Given the description of an element on the screen output the (x, y) to click on. 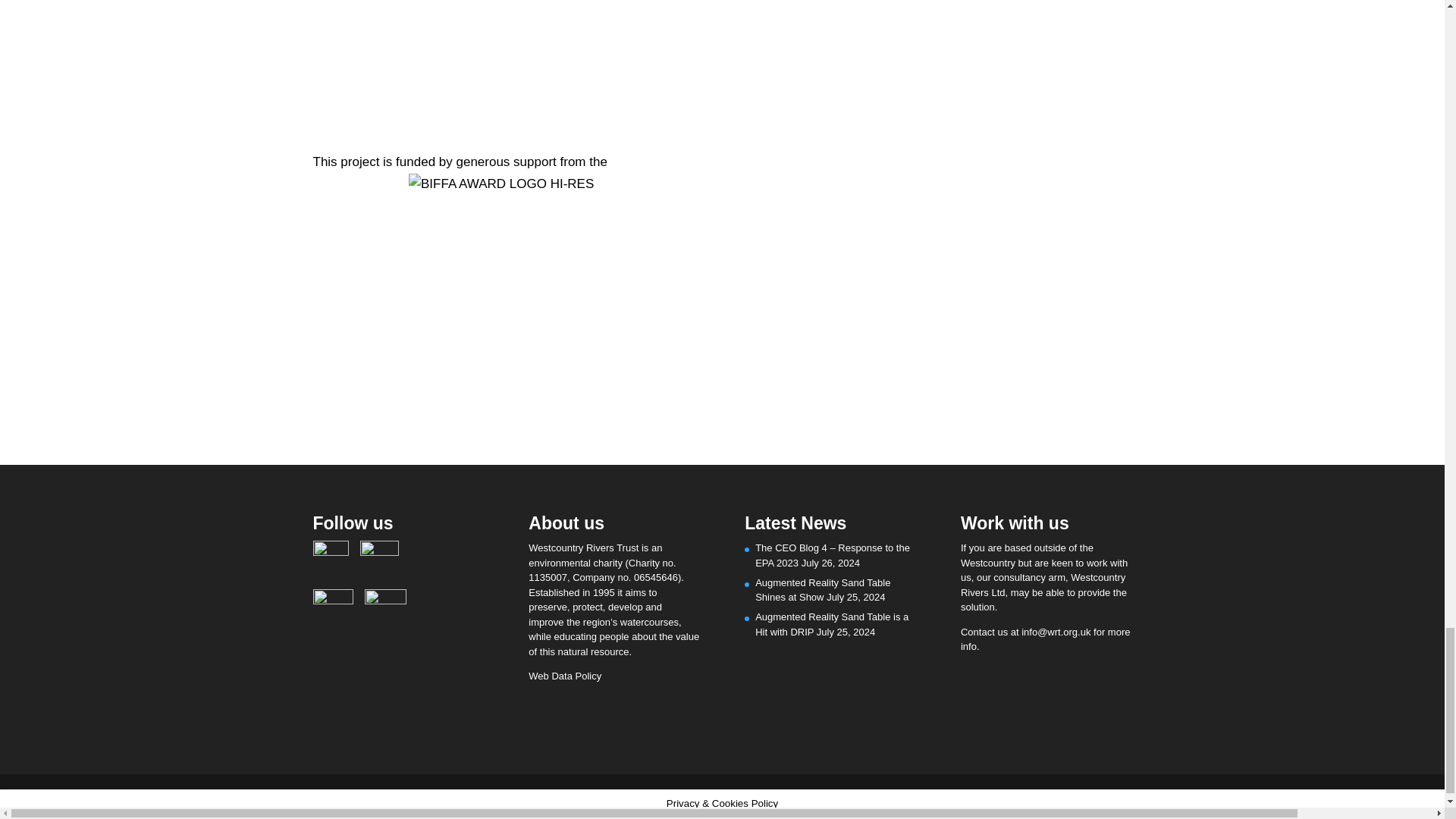
Web Data Policy (564, 675)
